Given the description of an element on the screen output the (x, y) to click on. 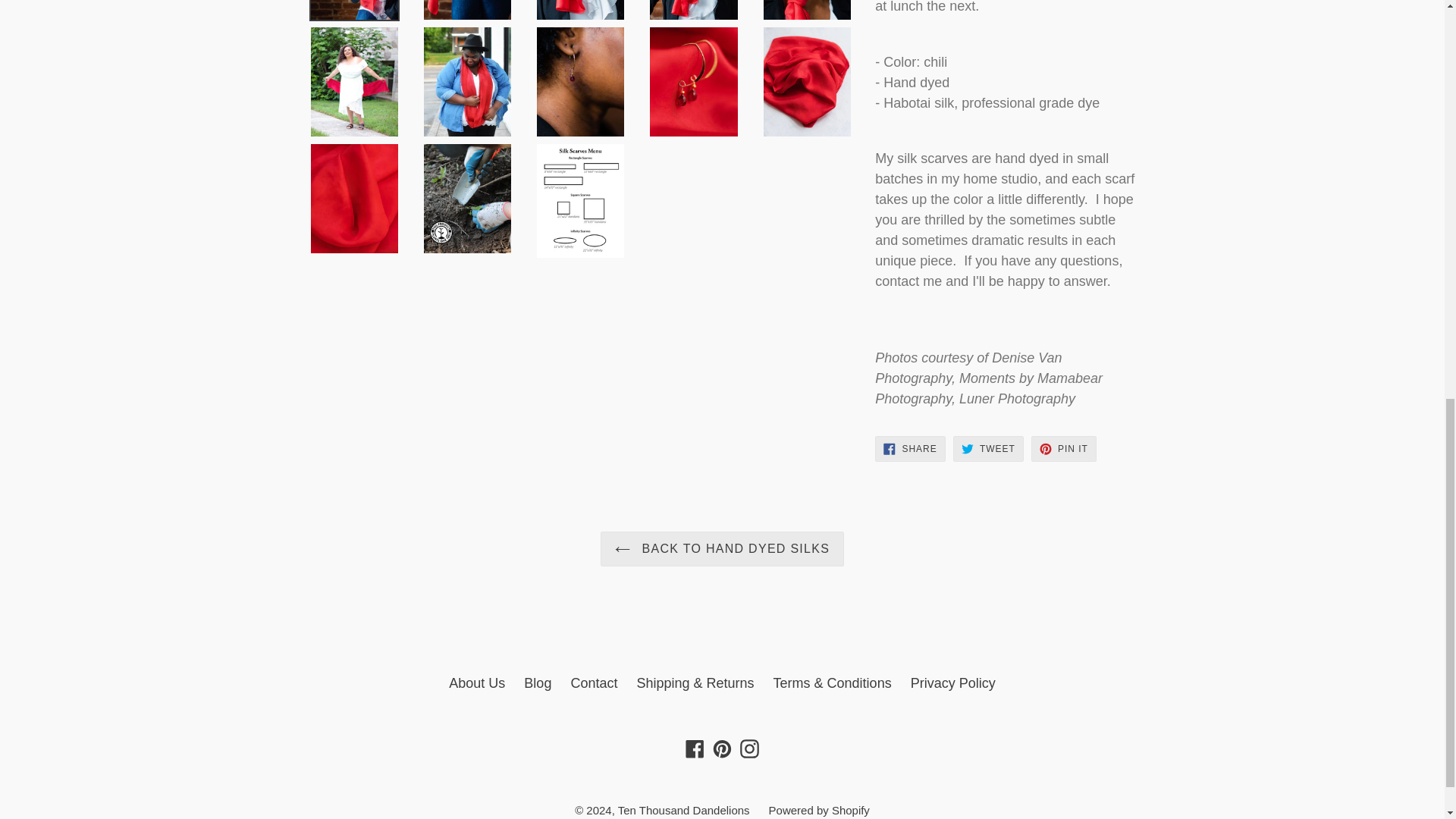
Share on Facebook (909, 448)
Ten Thousand Dandelions on Instagram (749, 747)
Pin on Pinterest (1063, 448)
Tweet on Twitter (988, 448)
Ten Thousand Dandelions on Facebook (694, 747)
Ten Thousand Dandelions on Pinterest (721, 747)
